Given the description of an element on the screen output the (x, y) to click on. 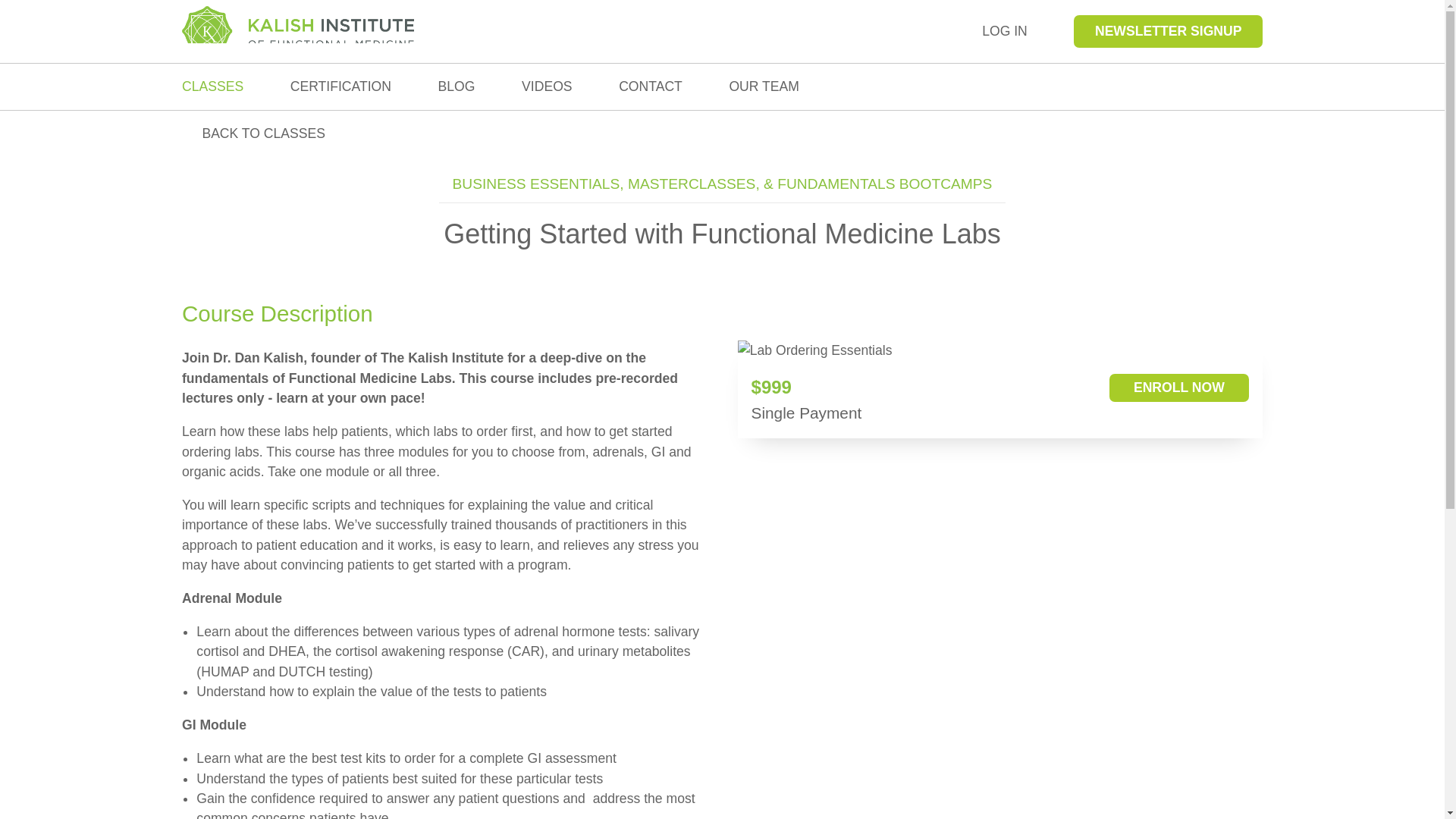
Home (297, 30)
Kalish Institute Certification Program (340, 86)
CLASSES (212, 86)
CERTIFICATION (340, 86)
ENROLL NOW (1178, 387)
NEWSLETTER SIGNUP (1168, 31)
VIDEOS (546, 86)
Faculty (764, 86)
Back to Classes (253, 133)
OUR TEAM (764, 86)
CONTACT (650, 86)
BLOG (456, 86)
BACK TO CLASSES (253, 133)
LOG IN (1004, 30)
Sign up for newsletter (1168, 31)
